Given the description of an element on the screen output the (x, y) to click on. 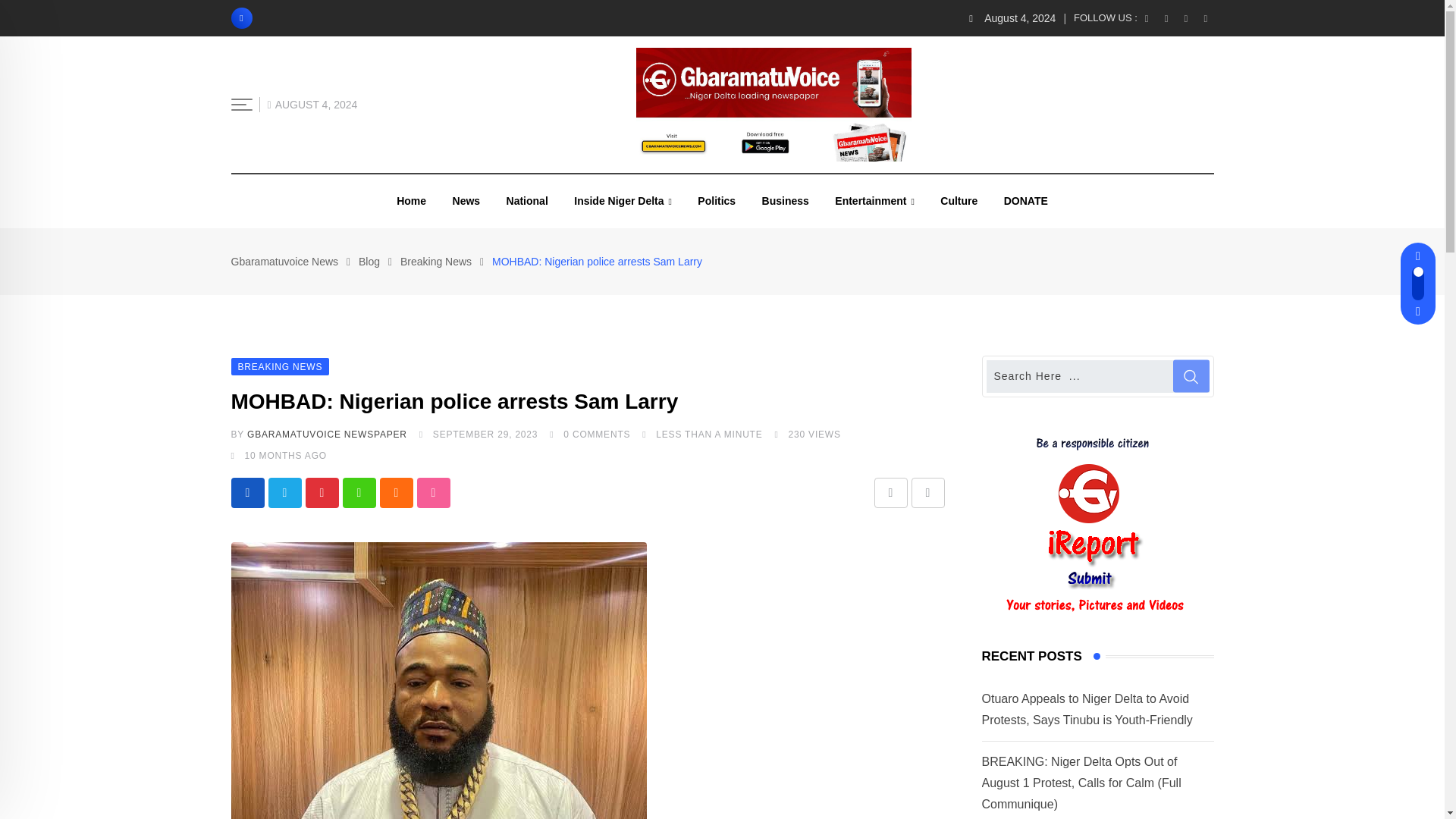
Posts by GbaramatuVoice Newspaper (327, 434)
News (466, 200)
Home (411, 200)
Go to Blog. (369, 261)
Go to Gbaramatuvoice News. (283, 261)
Politics (715, 200)
Go to the Breaking News Category archives. (435, 261)
Inside Niger Delta (622, 201)
National (527, 200)
